Given the description of an element on the screen output the (x, y) to click on. 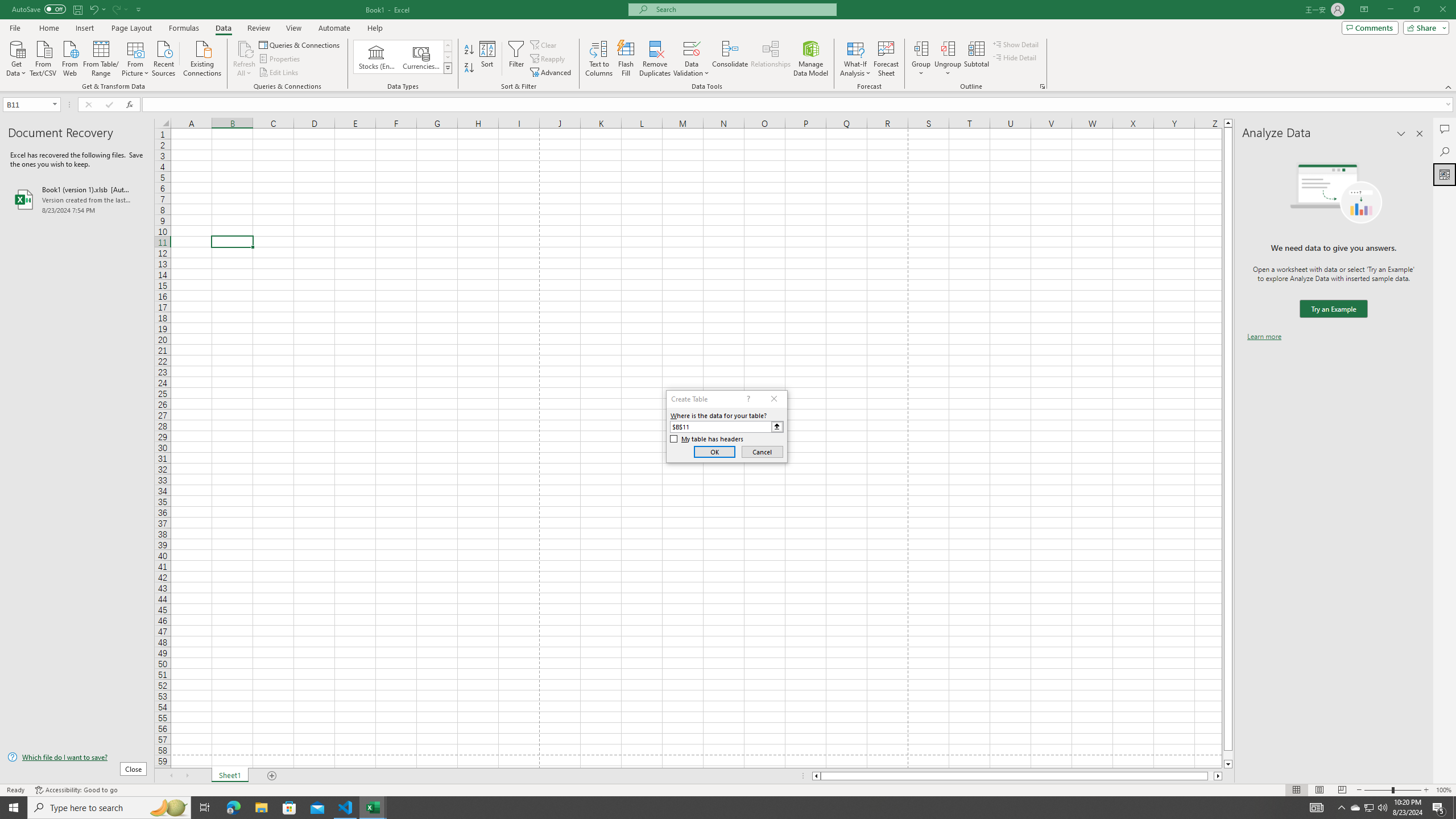
Sort Z to A (469, 67)
Consolidate... (729, 58)
From Web (69, 57)
Text to Columns... (598, 58)
Sort... (487, 58)
Stocks (English) (375, 56)
